Given the description of an element on the screen output the (x, y) to click on. 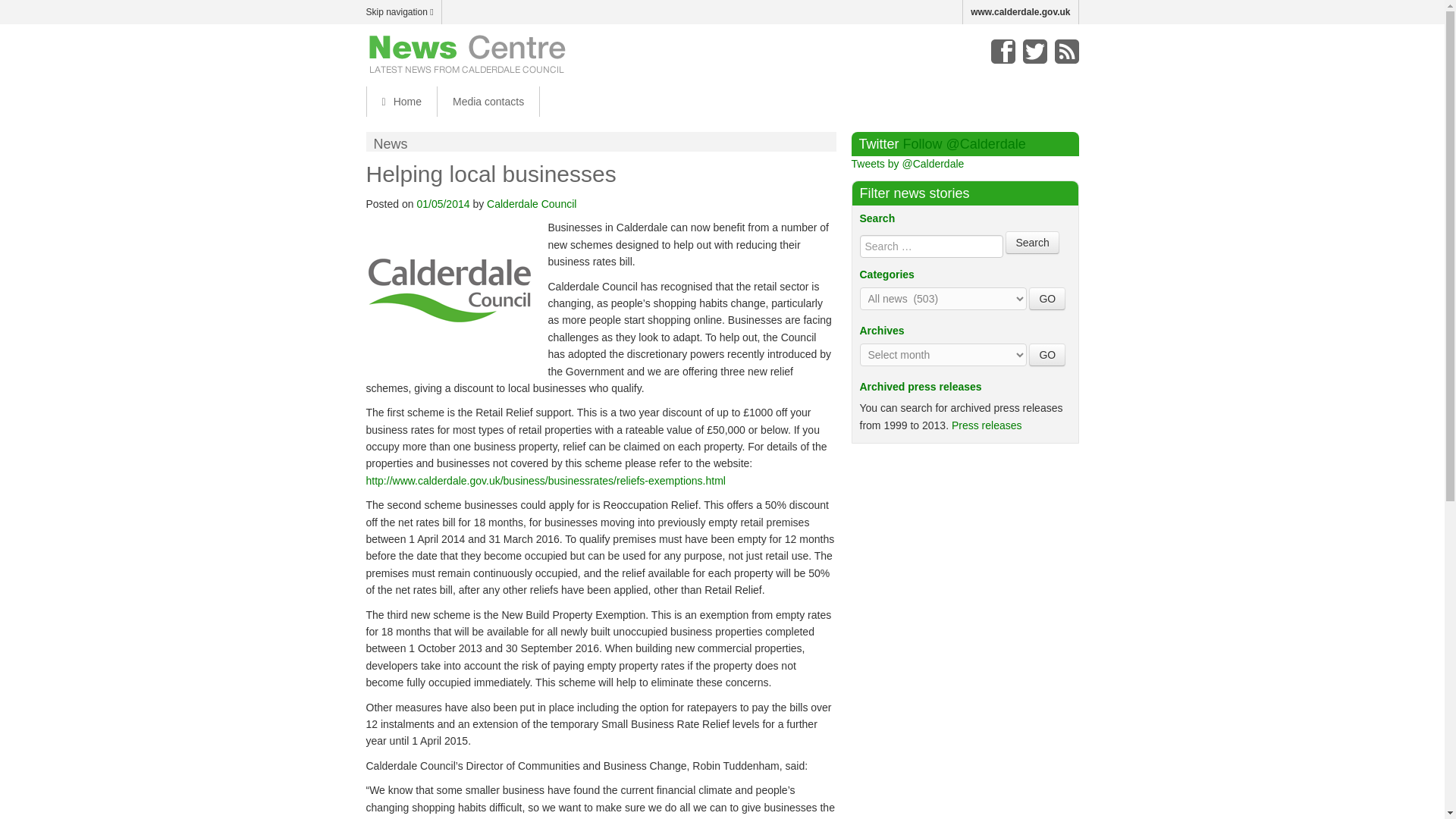
Twitter (1034, 51)
www.calderdale.gov.uk (1020, 12)
Home (400, 101)
Facebook (1002, 51)
GO (1047, 298)
View all posts by Calderdale Council (531, 203)
GO (1047, 298)
Search (1032, 241)
Media contacts (489, 101)
1:40 pm (442, 203)
